Given the description of an element on the screen output the (x, y) to click on. 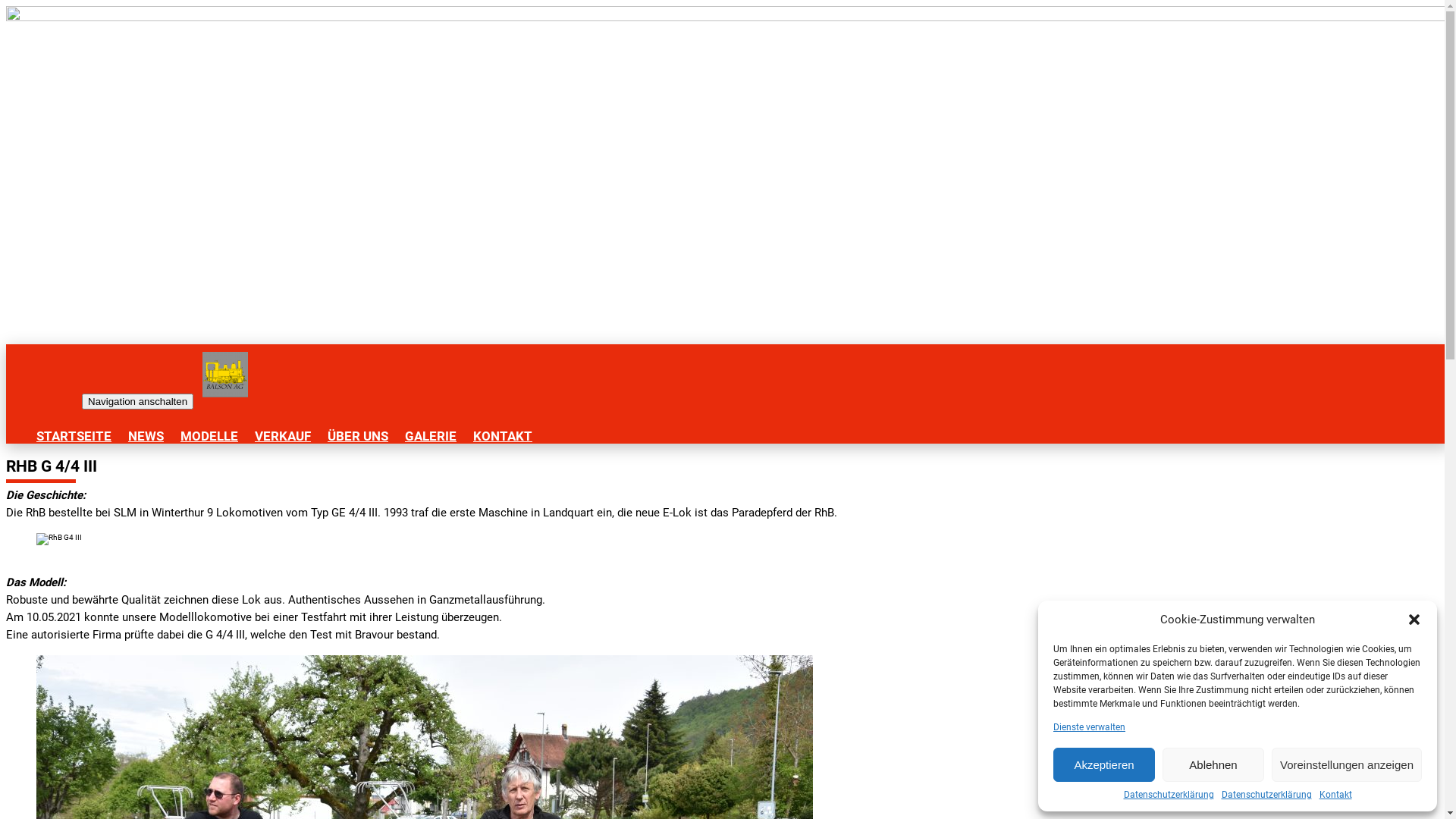
MODELLE Element type: text (209, 435)
VERKAUF Element type: text (282, 435)
Navigation anschalten Element type: text (137, 401)
GALERIE Element type: text (430, 435)
Ablehnen Element type: text (1213, 764)
Kontakt Element type: text (1335, 794)
B 3/4 Element type: hover (727, 175)
NEWS Element type: text (145, 435)
KONTAKT Element type: text (502, 435)
Dienste verwalten Element type: text (1089, 726)
Voreinstellungen anzeigen Element type: text (1346, 764)
Akzeptieren Element type: text (1103, 764)
STARTSEITE Element type: text (73, 435)
